Given the description of an element on the screen output the (x, y) to click on. 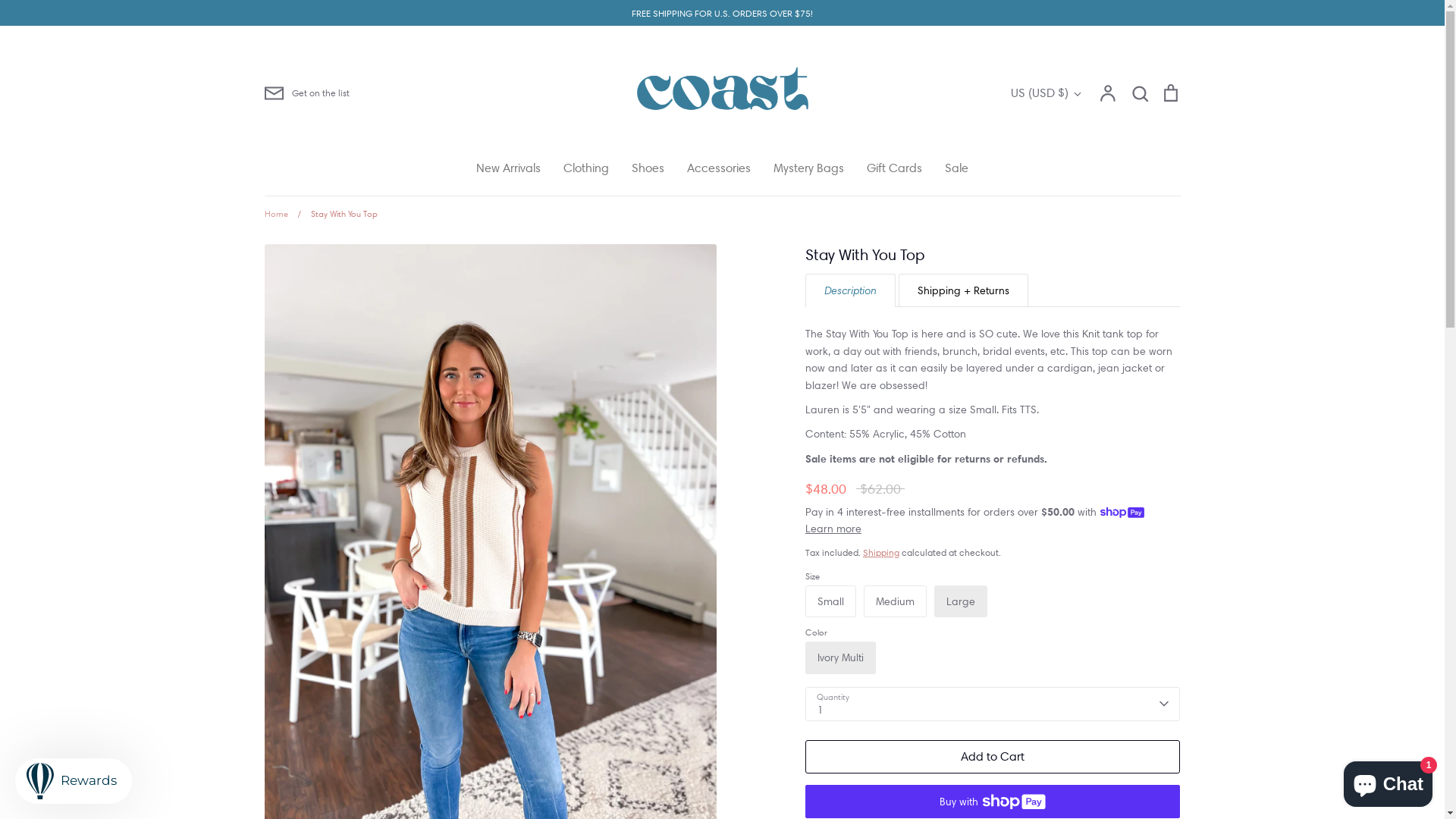
Gift Cards Element type: text (894, 167)
Sale Element type: text (956, 167)
Shopify online store chat Element type: hover (1388, 780)
Account Element type: text (1107, 93)
Accessories Element type: text (718, 167)
Clothing Element type: text (585, 167)
1 Element type: text (992, 704)
Rewards Element type: text (73, 780)
Home Element type: text (275, 213)
Add to Cart Element type: text (992, 756)
Get on the list Element type: text (305, 93)
Cart Element type: text (1169, 93)
Shoes Element type: text (647, 167)
New Arrivals Element type: text (508, 167)
/ Stay With You Top Element type: text (332, 213)
Mystery Bags Element type: text (808, 167)
Search Element type: text (1139, 93)
US (USD $) Element type: text (1046, 93)
Shipping Element type: text (880, 552)
